Given the description of an element on the screen output the (x, y) to click on. 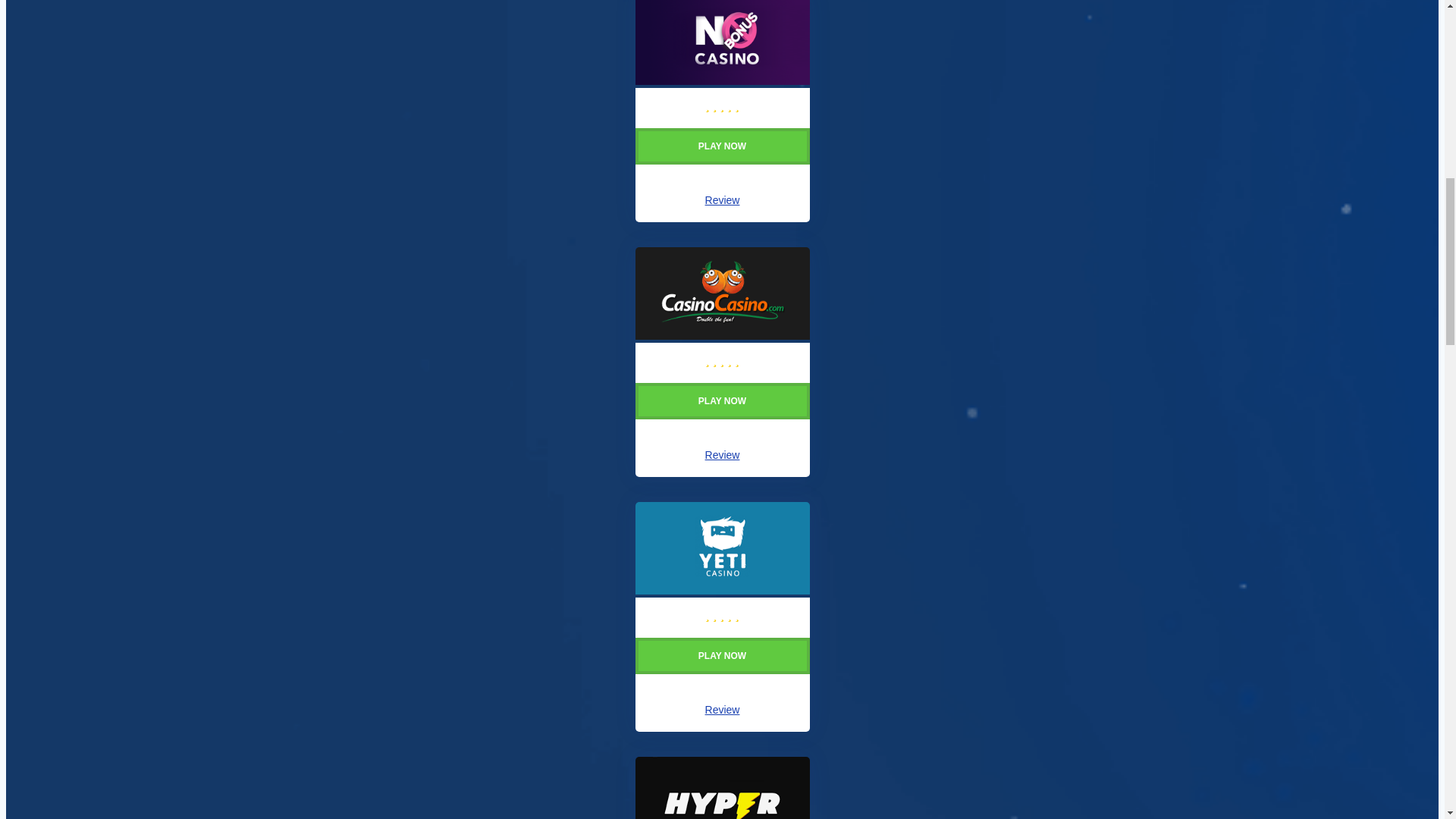
PLAY NOW (721, 669)
Review (721, 709)
PLAY NOW (721, 415)
PLAY NOW (721, 159)
Review (721, 200)
Review (721, 454)
